Given the description of an element on the screen output the (x, y) to click on. 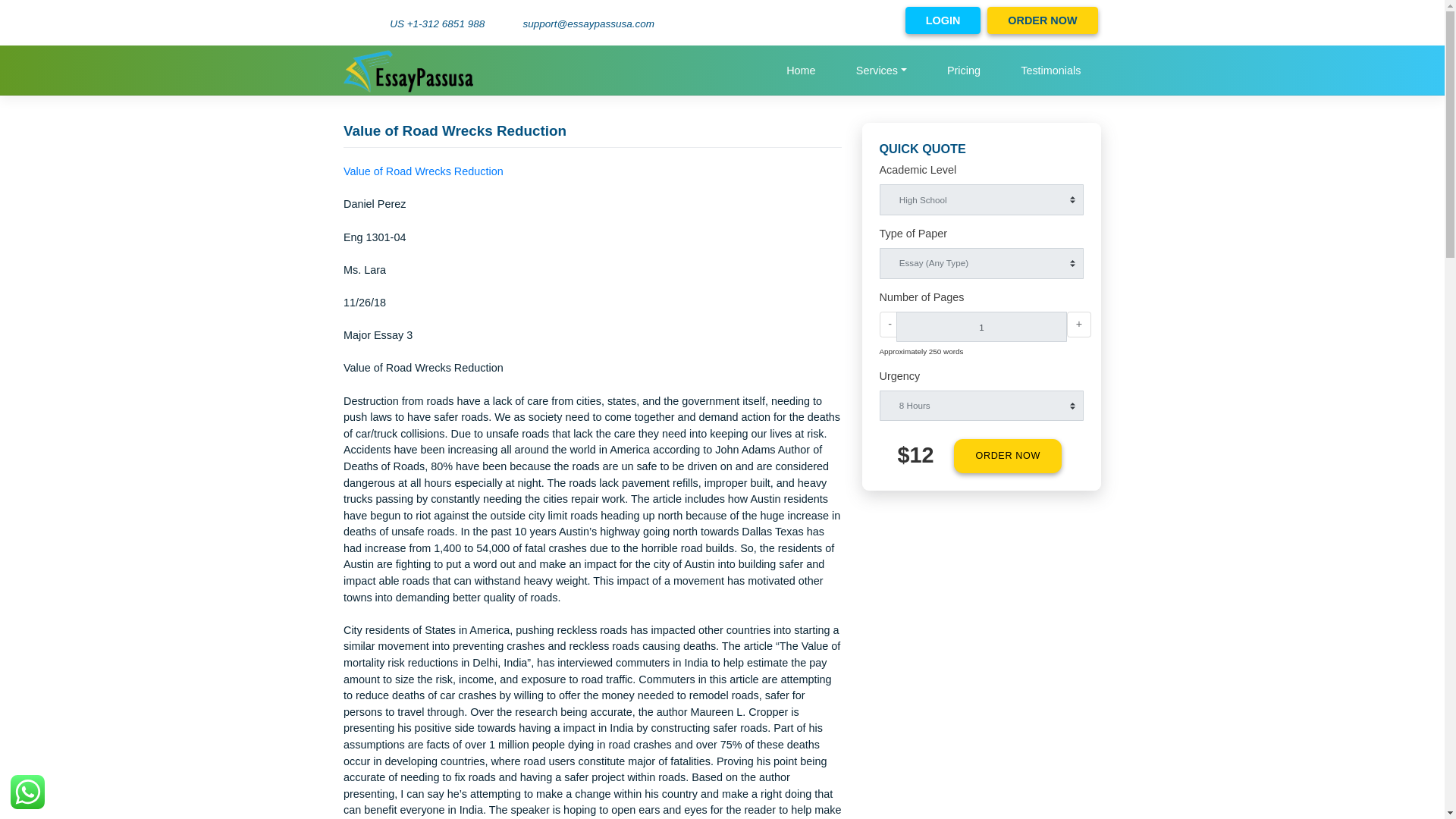
ORDER NOW (1119, 506)
Pricing (1070, 77)
LOGIN (1047, 22)
Value of Road Wrecks Reduction (470, 190)
Home (889, 77)
1 (1090, 362)
Testimonials (1167, 77)
Testimonials (1167, 77)
Pricing (1070, 77)
Services (979, 77)
Services (979, 77)
LOGIN (1047, 22)
Home (889, 77)
ORDER NOW (1158, 22)
ORDER NOW (1158, 22)
